Given the description of an element on the screen output the (x, y) to click on. 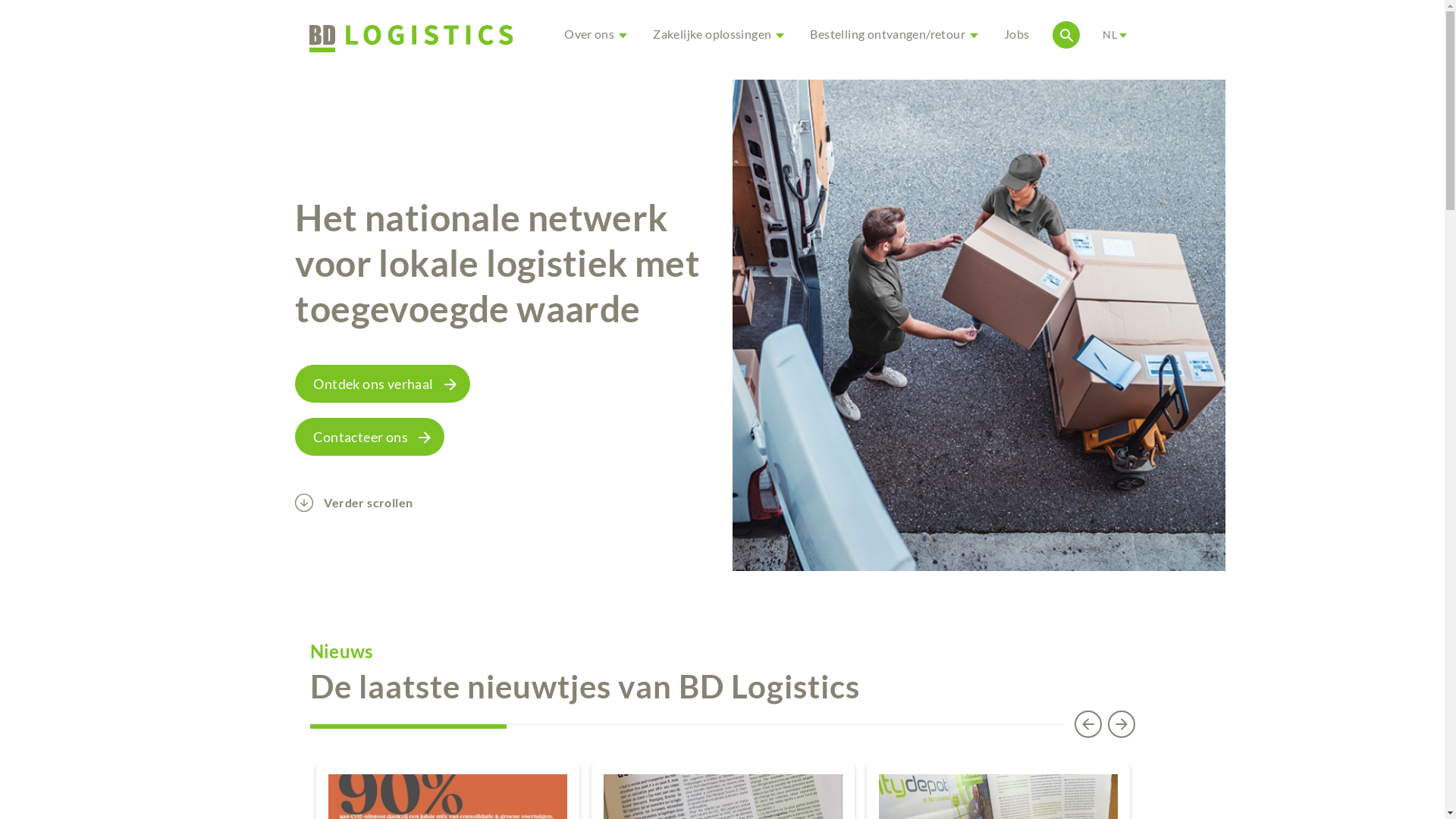
Jobs Element type: text (1016, 34)
Overslaan en naar de inhoud gaan Element type: text (0, 0)
Over ons Element type: text (593, 34)
Zakelijke oplossingen Element type: text (715, 34)
Zoeken Element type: text (1270, 99)
Contacteer ons Element type: text (368, 436)
Ontdek ons verhaal Element type: text (381, 383)
